Given the description of an element on the screen output the (x, y) to click on. 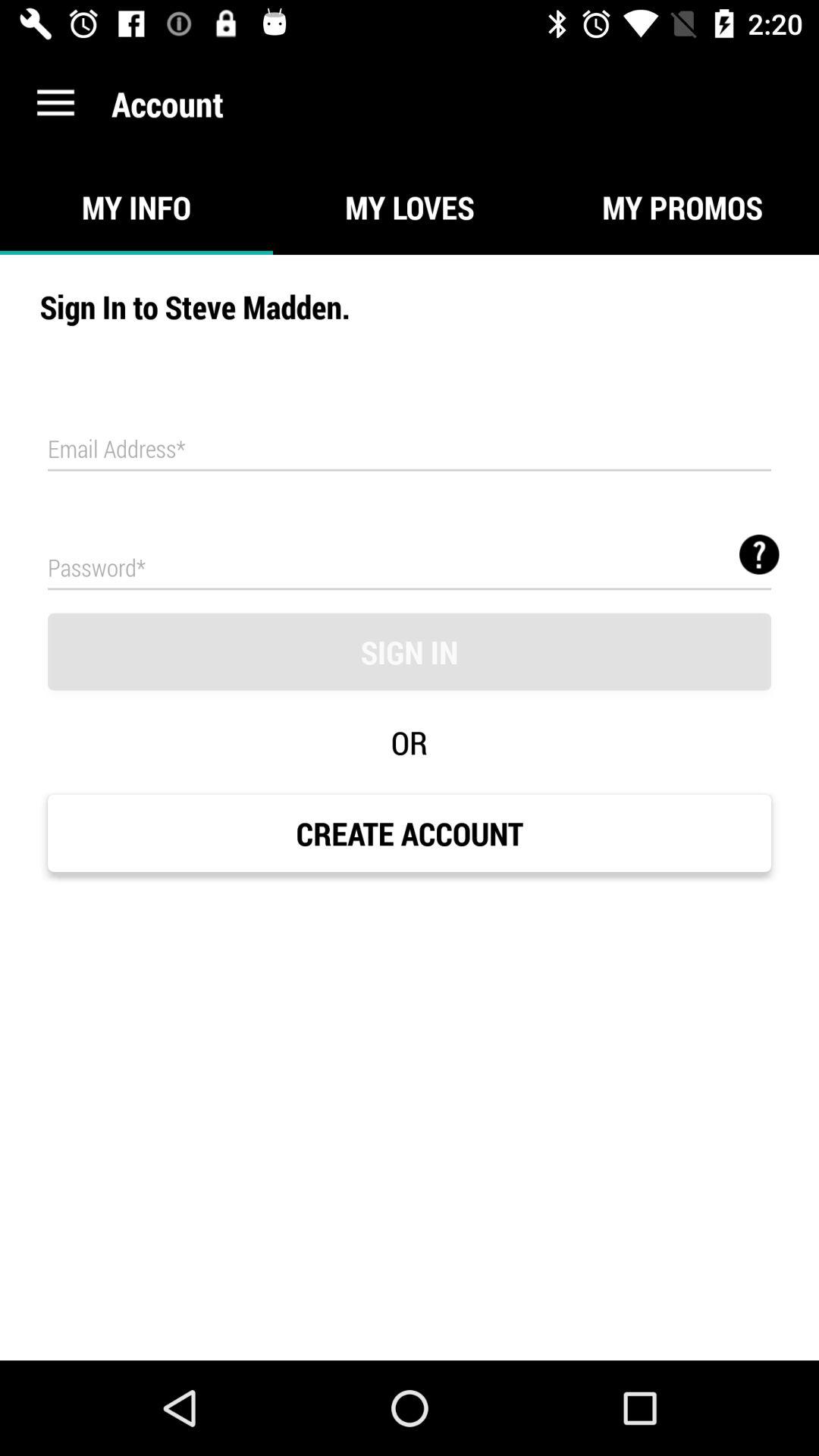
turn on the item on the right (759, 554)
